Given the description of an element on the screen output the (x, y) to click on. 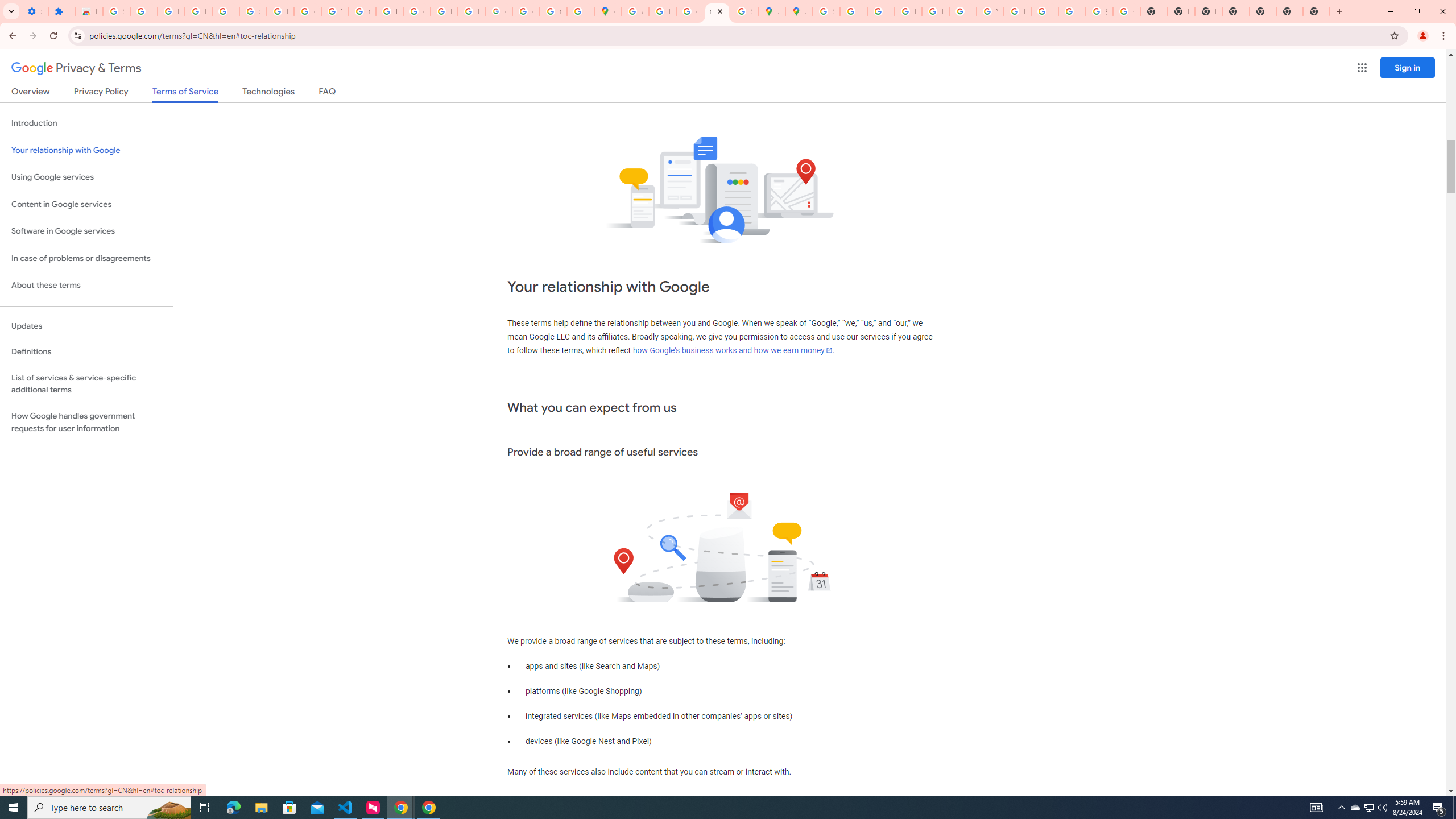
affiliates (611, 336)
In case of problems or disagreements (86, 258)
Content in Google services (86, 204)
Software in Google services (86, 230)
